Given the description of an element on the screen output the (x, y) to click on. 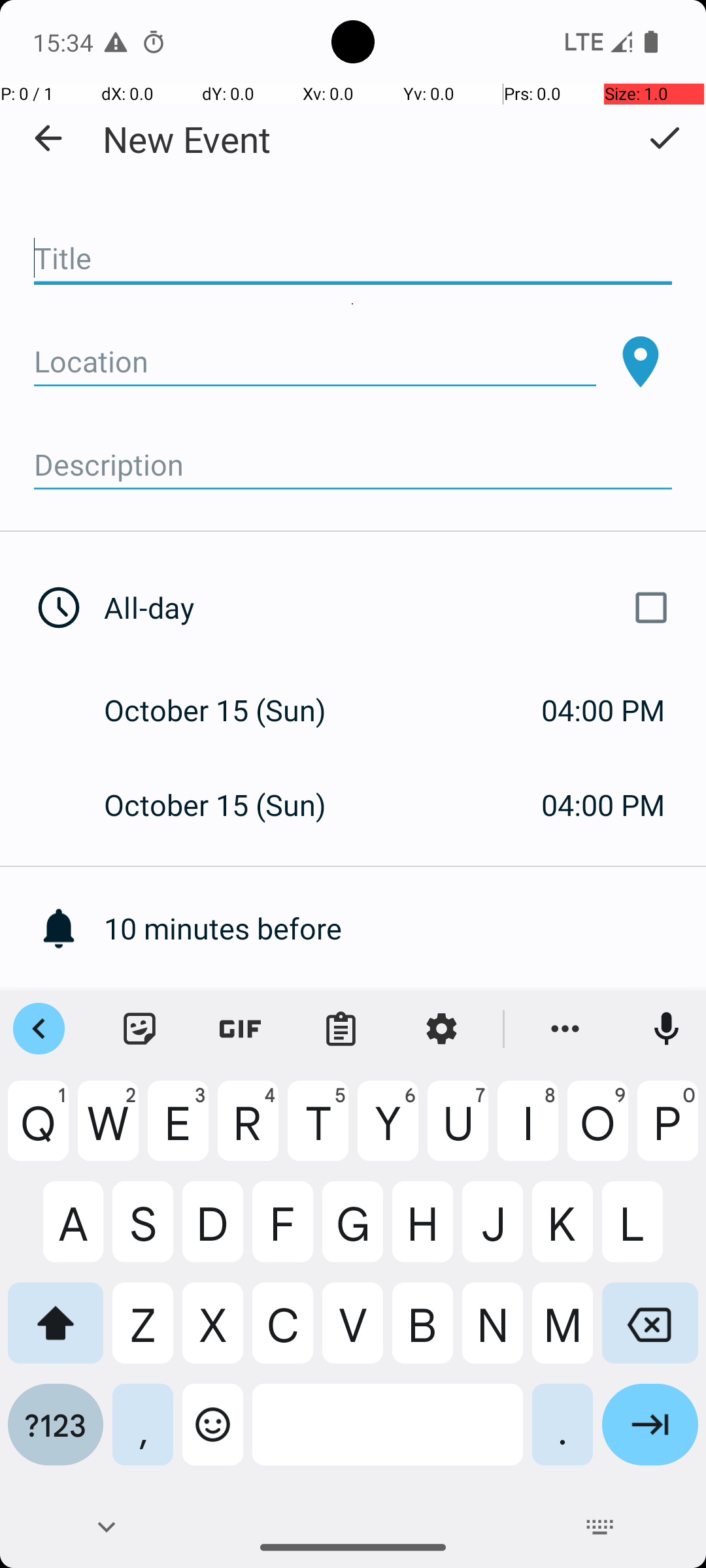
Location Element type: android.widget.EditText (314, 361)
October 15 (Sun) Element type: android.widget.TextView (228, 709)
04:00 PM Element type: android.widget.TextView (602, 709)
10 minutes before Element type: android.widget.TextView (404, 927)
Add another reminder Element type: android.widget.TextView (404, 1022)
All-day Element type: android.widget.CheckBox (390, 607)
